Given the description of an element on the screen output the (x, y) to click on. 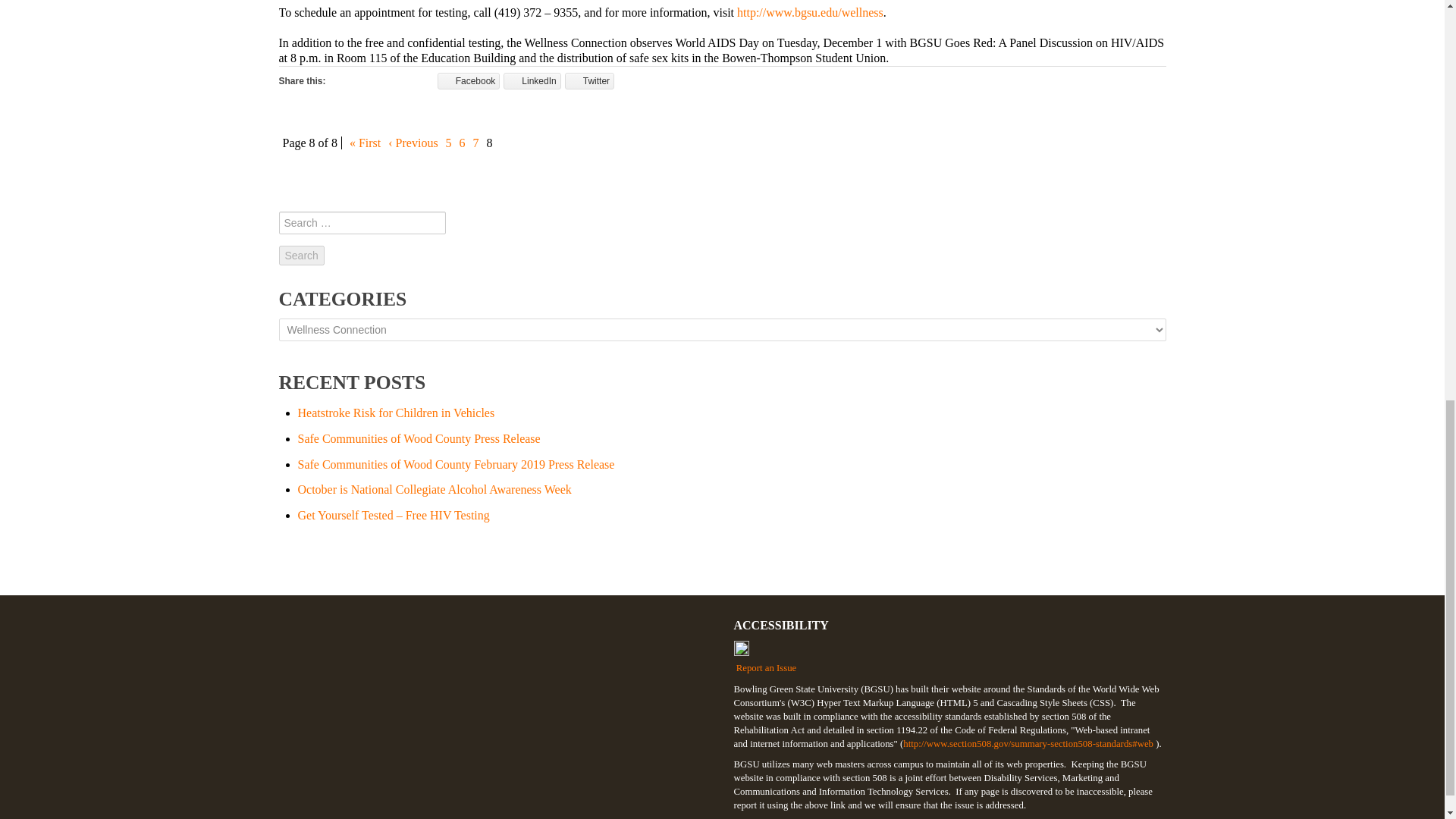
Search (301, 255)
Search (301, 255)
Click to share on Twitter (589, 80)
Heatstroke Risk for Children in Vehicles (396, 412)
October is National Collegiate Alcohol Awareness Week (433, 489)
Safe Communities of Wood County Press Release (418, 438)
 Report an Issue (949, 656)
Safe Communities of Wood County February 2019 Press Release (455, 463)
7 (475, 142)
Search (301, 255)
Twitter (589, 80)
Facebook (469, 80)
Share on Facebook (469, 80)
5 (448, 142)
6 (461, 142)
